Given the description of an element on the screen output the (x, y) to click on. 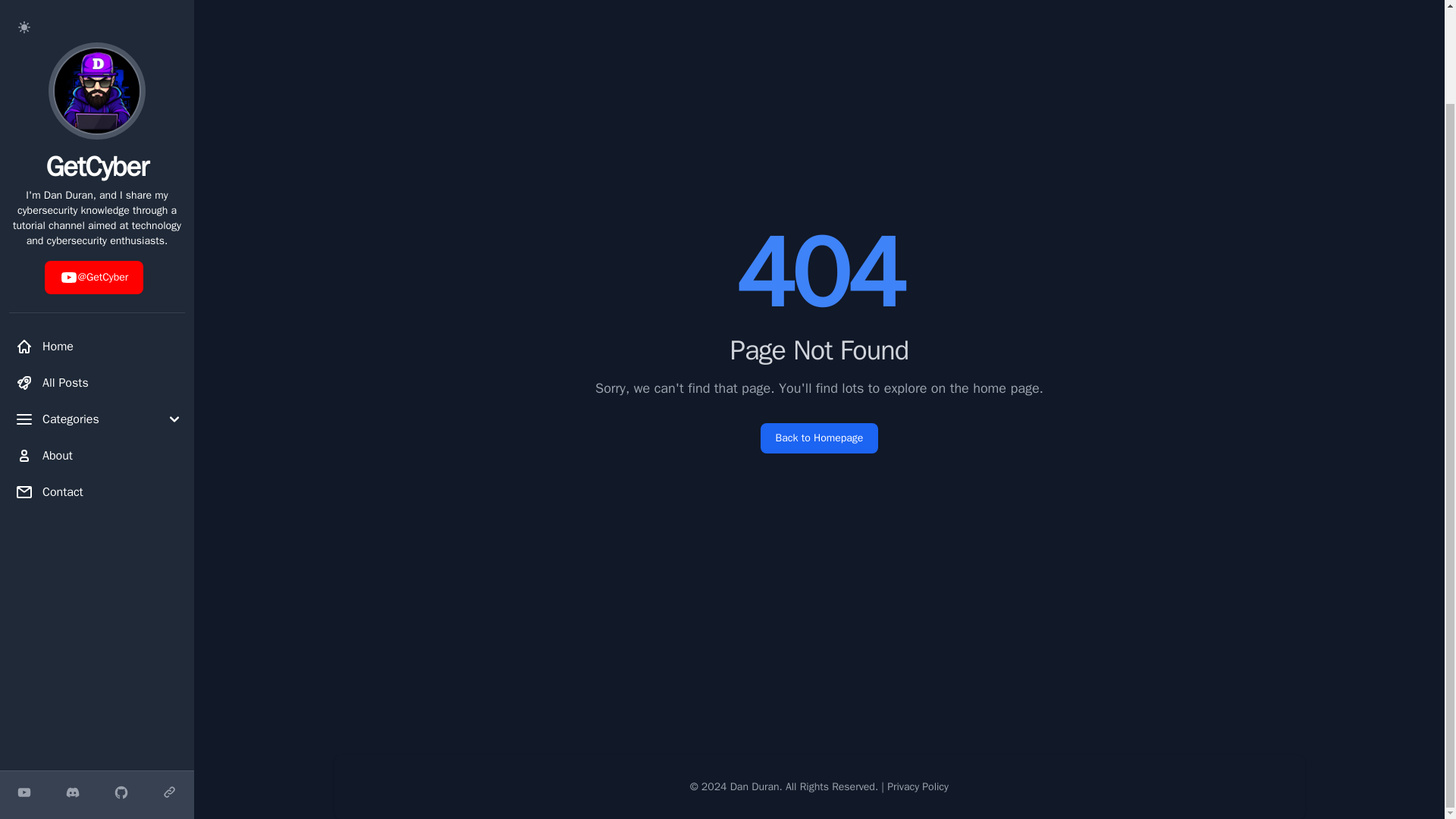
About (96, 347)
Home (96, 238)
Back to Homepage (819, 438)
Privacy Policy (917, 786)
Dan Duran (754, 786)
All Posts (96, 275)
Categories (96, 311)
Contact (96, 384)
